Given the description of an element on the screen output the (x, y) to click on. 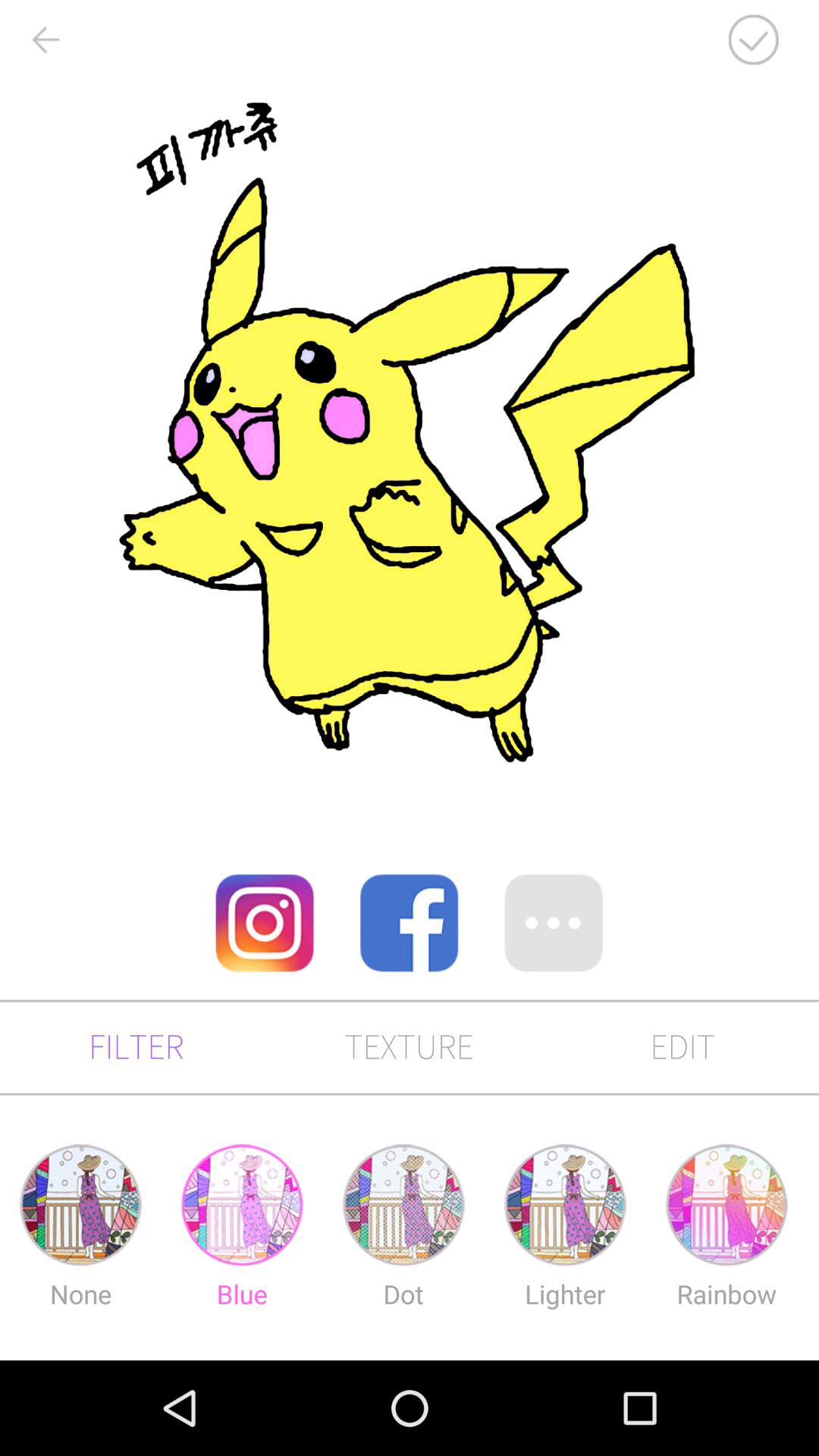
go to other social media apps (553, 922)
